Given the description of an element on the screen output the (x, y) to click on. 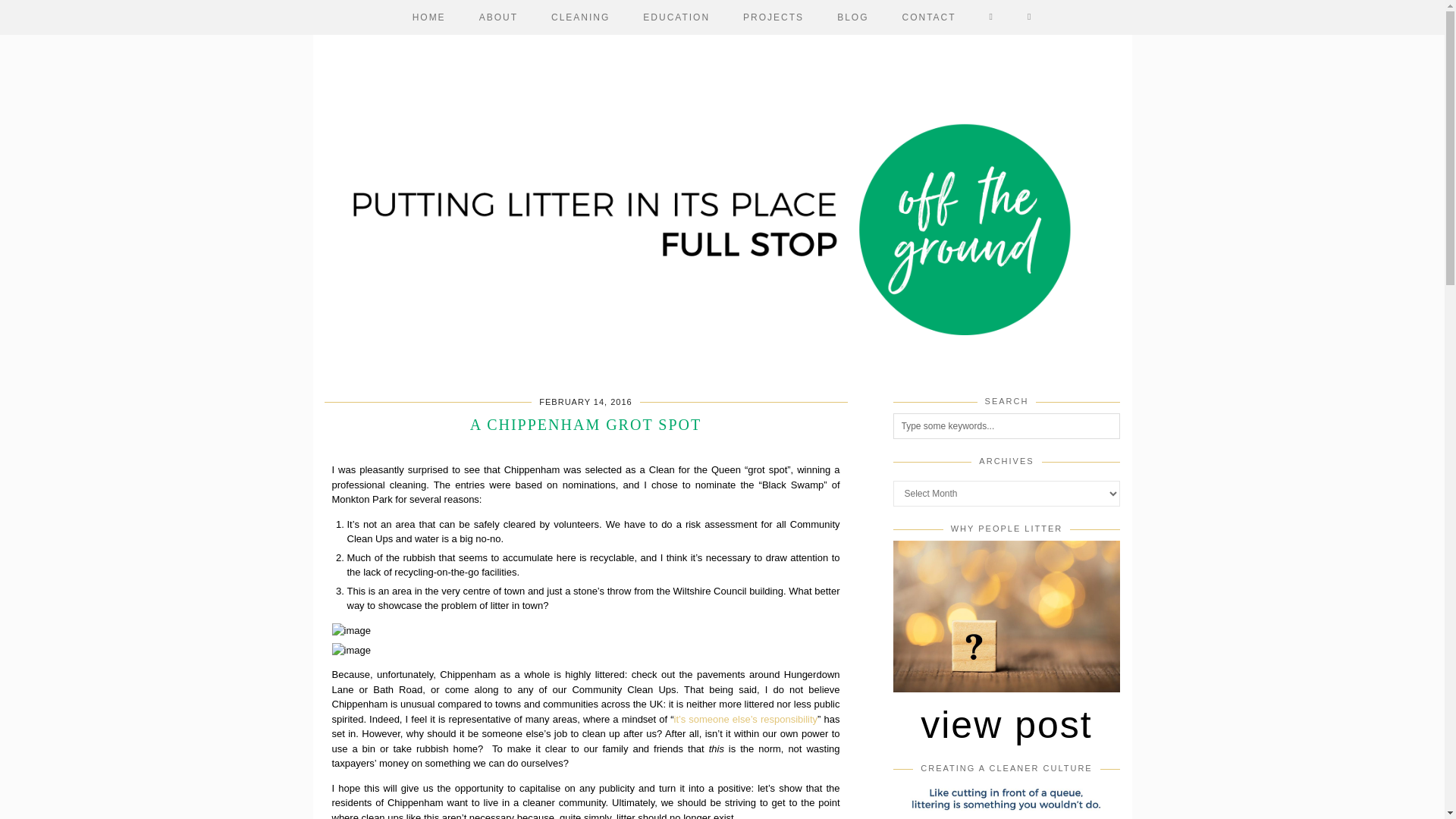
FACEBOOK (991, 17)
TWITTER (1029, 17)
ABOUT (498, 17)
HOME (429, 17)
PROJECTS (773, 17)
CLEANING (580, 17)
BLOG (853, 17)
CONTACT (928, 17)
EDUCATION (676, 17)
Search for: (1007, 425)
